Given the description of an element on the screen output the (x, y) to click on. 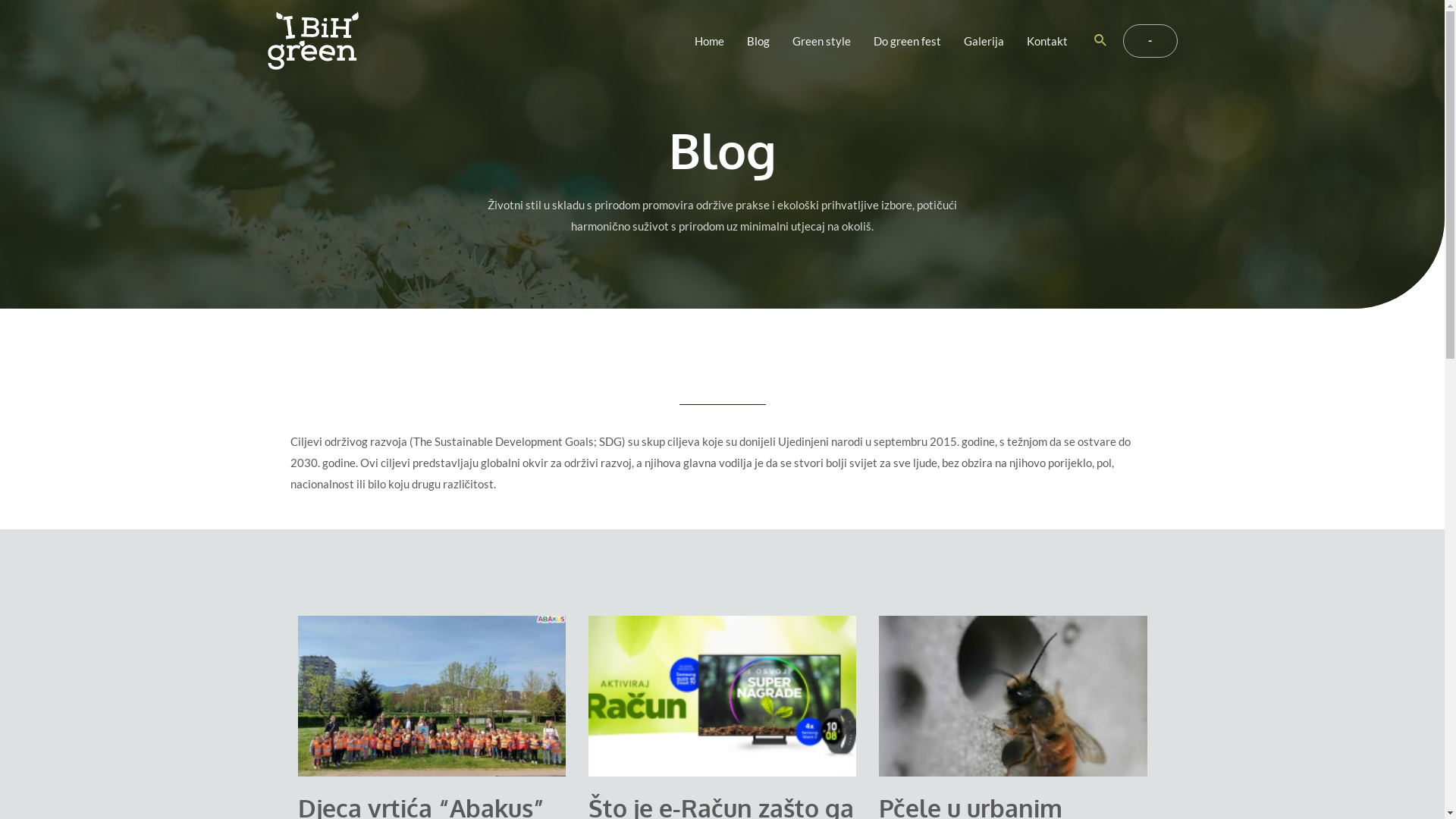
Home Element type: text (709, 40)
Blog Element type: text (758, 40)
Do green fest Element type: text (907, 40)
Green style Element type: text (821, 40)
Galerija Element type: text (983, 40)
- Element type: text (1149, 40)
Kontakt Element type: text (1047, 40)
